Given the description of an element on the screen output the (x, y) to click on. 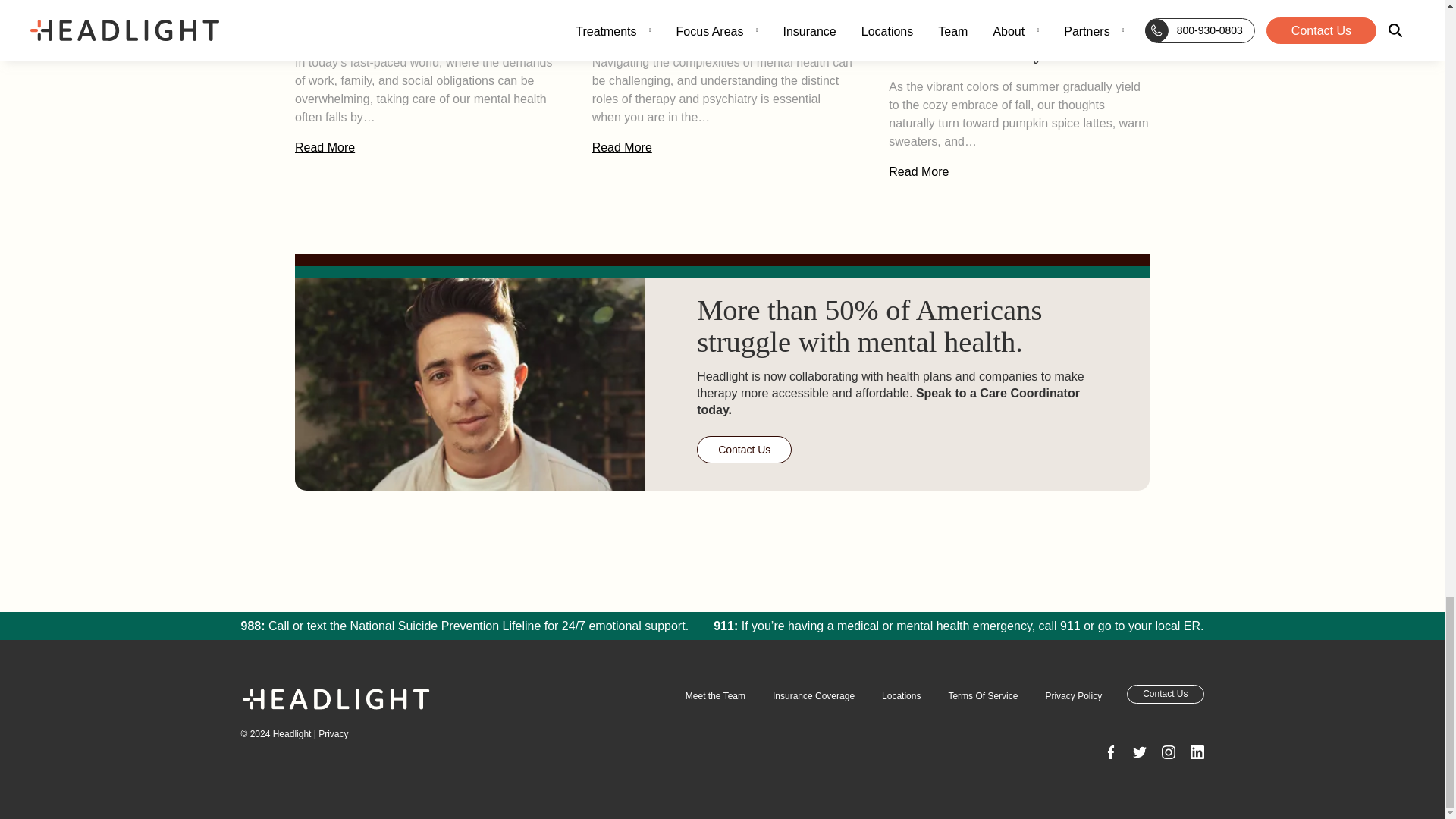
Twitter Icon (1167, 752)
Twitter Logo (1139, 752)
Facebook Logo (1110, 752)
